Given the description of an element on the screen output the (x, y) to click on. 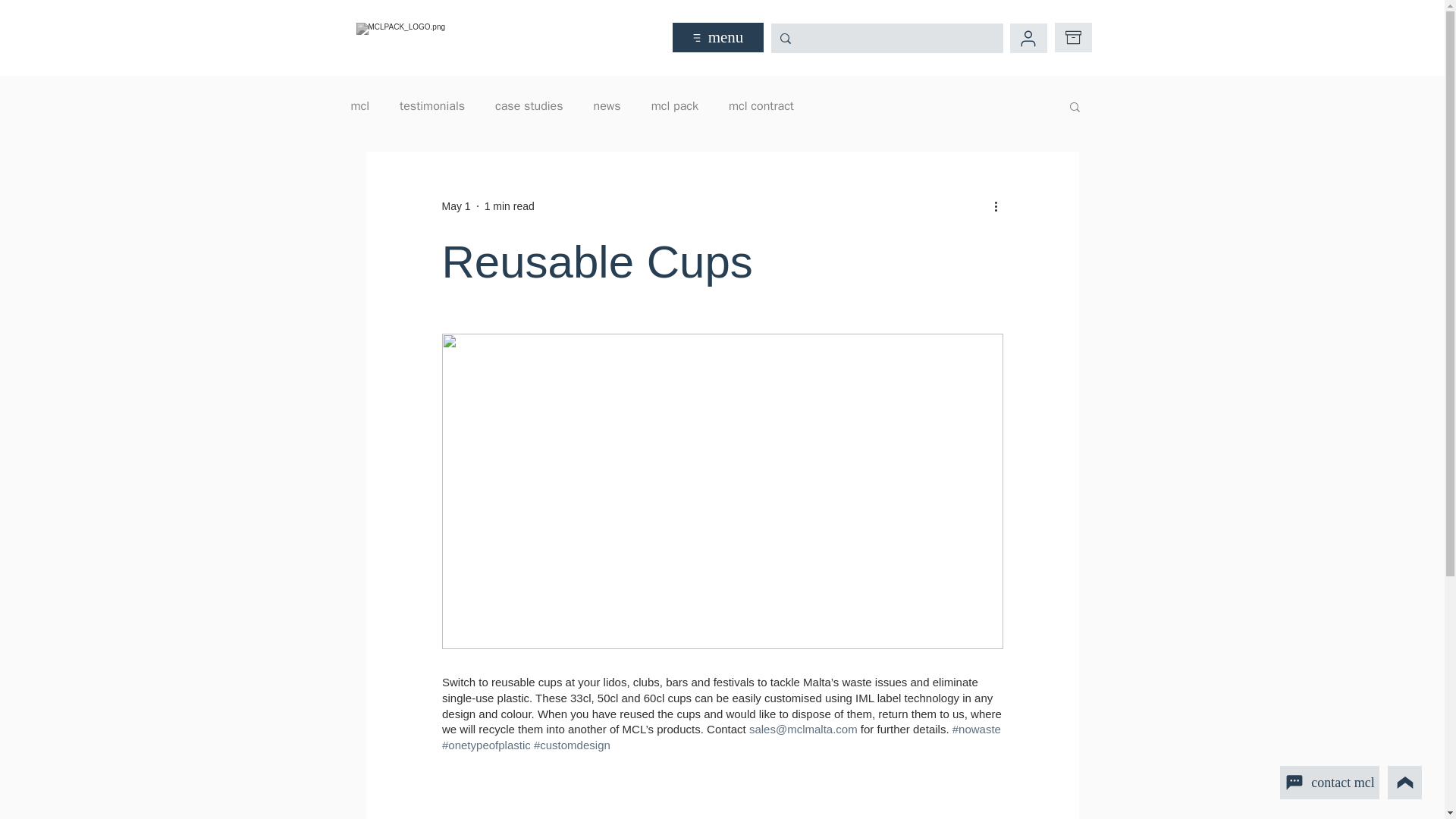
mcl pack (674, 106)
mcl contract (761, 106)
testimonials (431, 106)
news (607, 106)
1 min read (509, 205)
case studies (528, 106)
contact mcl (1328, 782)
mcl (359, 106)
menu (716, 37)
May 1 (455, 205)
